Given the description of an element on the screen output the (x, y) to click on. 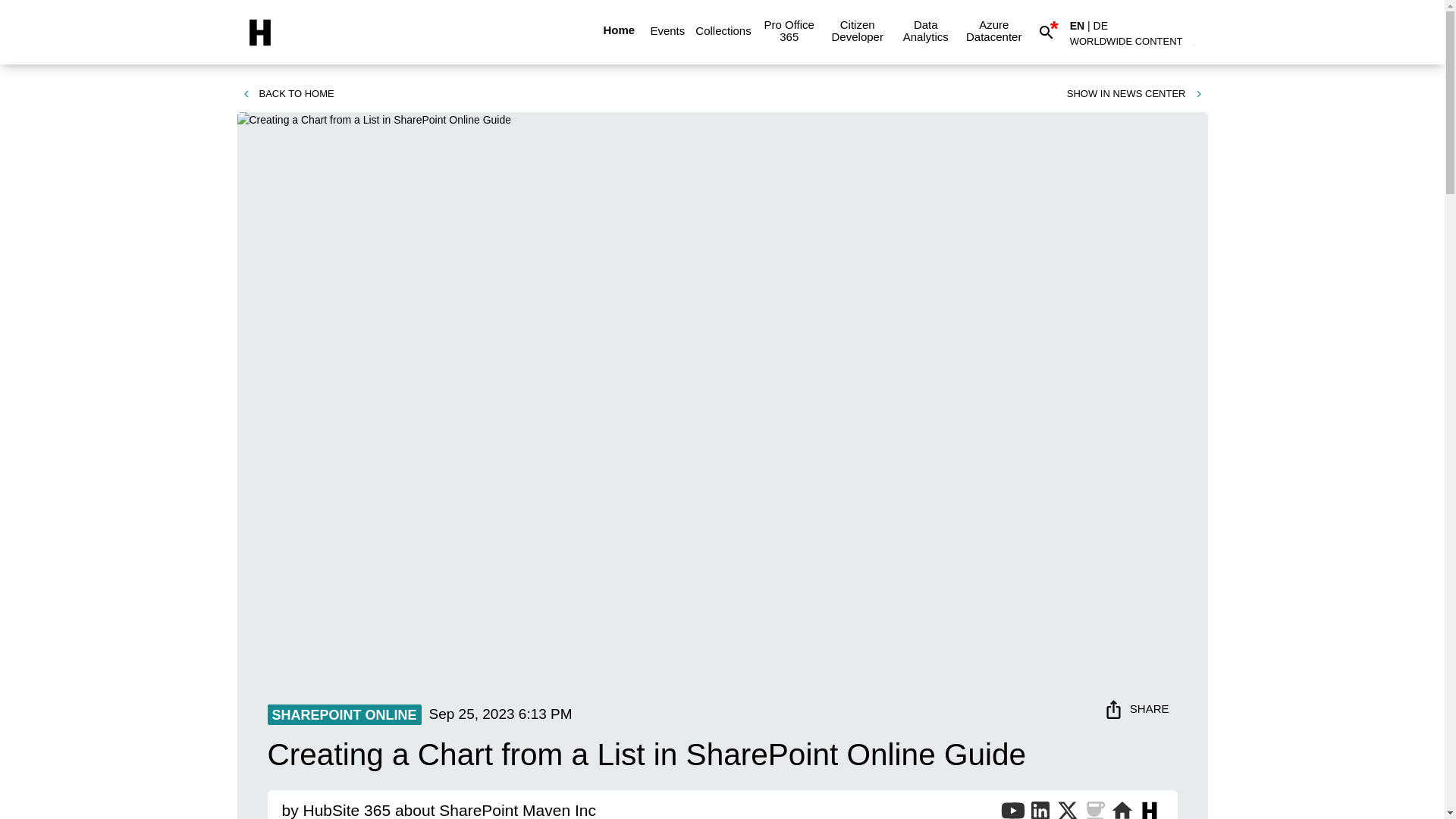
Pro Office 365 (789, 31)
Home (618, 30)
Citizen Developer (857, 31)
Azure Datacenter (993, 31)
Collections (722, 31)
BACK TO HOME (286, 94)
SHARE (1137, 708)
Data Analytics (925, 31)
SHOW IN NEWS CENTER (1135, 94)
Events (667, 31)
